Given the description of an element on the screen output the (x, y) to click on. 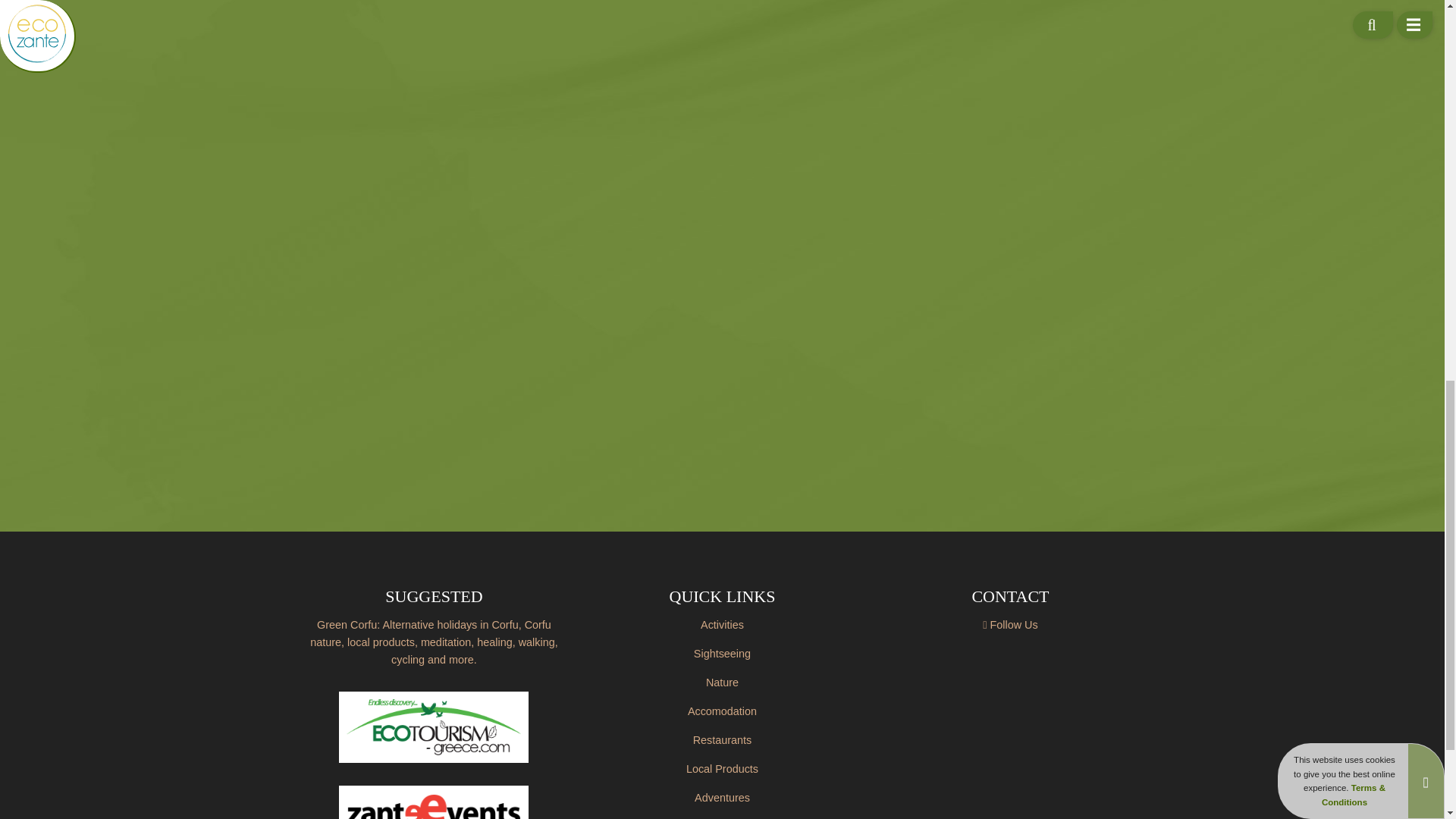
Zante Events (433, 802)
Sightseeing (722, 653)
Activities (722, 624)
Accomodation (722, 711)
EcoTourism - Greece (433, 726)
Nature (722, 682)
Green Corfu (434, 642)
